Given the description of an element on the screen output the (x, y) to click on. 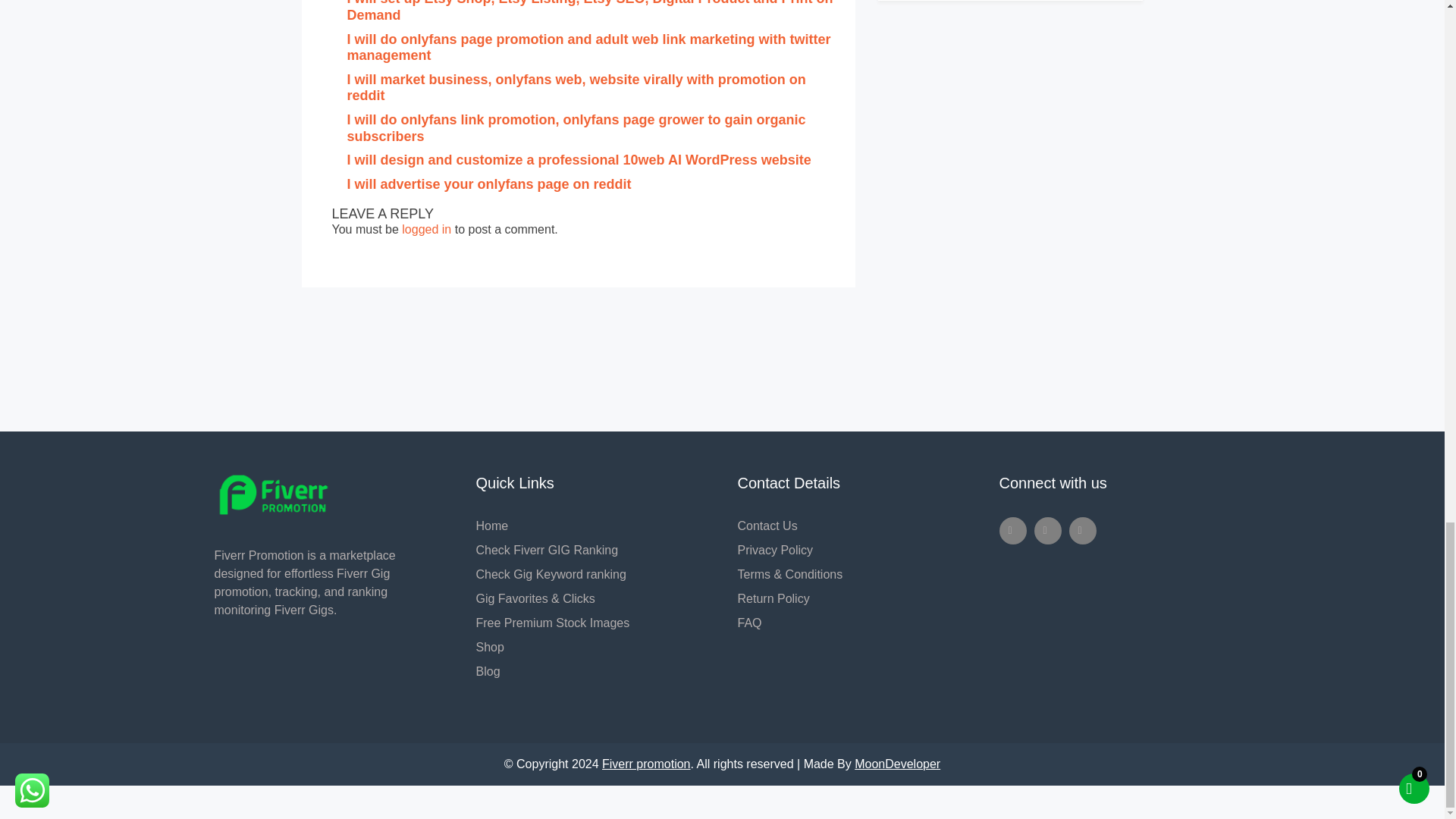
I will advertise your onlyfans page on reddit (489, 183)
